Given the description of an element on the screen output the (x, y) to click on. 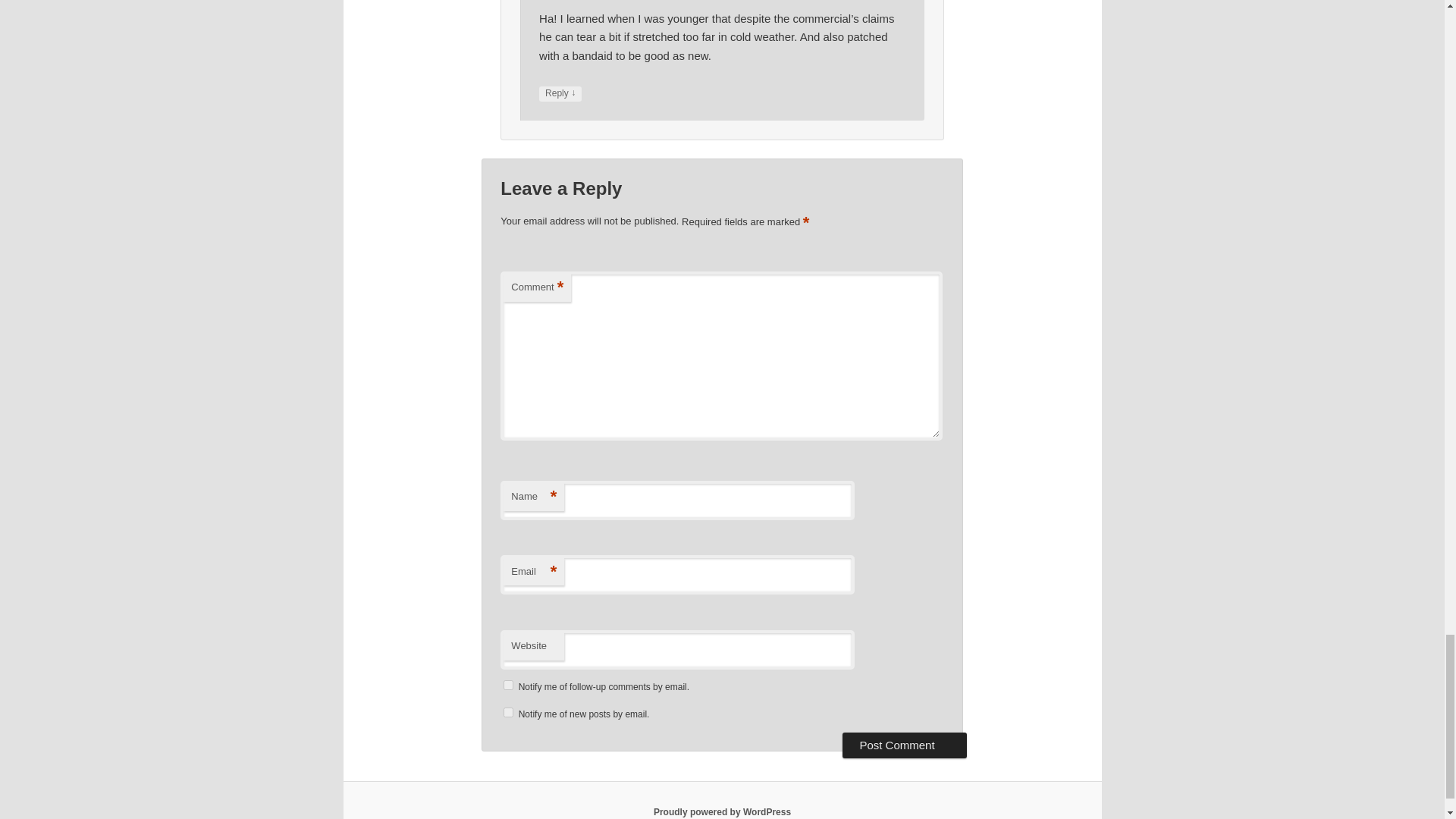
Semantic Personal Publishing Platform (721, 811)
Post Comment (904, 745)
subscribe (508, 685)
Post Comment (904, 745)
subscribe (508, 712)
Proudly powered by WordPress (721, 811)
